Given the description of an element on the screen output the (x, y) to click on. 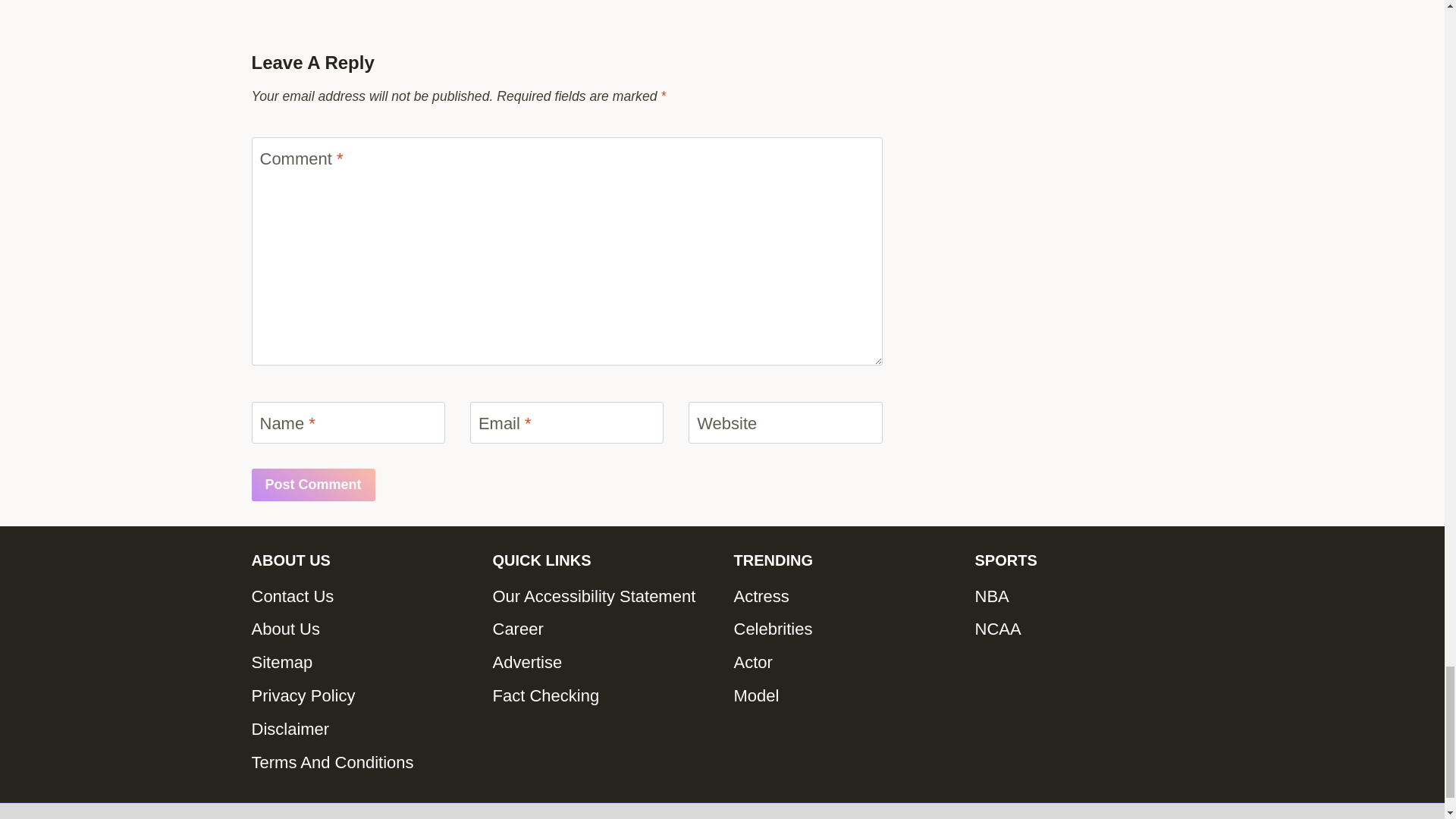
Career (602, 629)
Actress (842, 595)
Actor (842, 662)
NBA (1084, 595)
Fact Checking (602, 695)
Sitemap (360, 662)
Contact Us (360, 595)
Disclaimer (360, 729)
Our Accessibility Statement (602, 595)
About Us (360, 629)
Terms And Conditions (360, 762)
Privacy Policy (360, 695)
Post Comment (313, 484)
Celebrities (842, 629)
Advertise (602, 662)
